Given the description of an element on the screen output the (x, y) to click on. 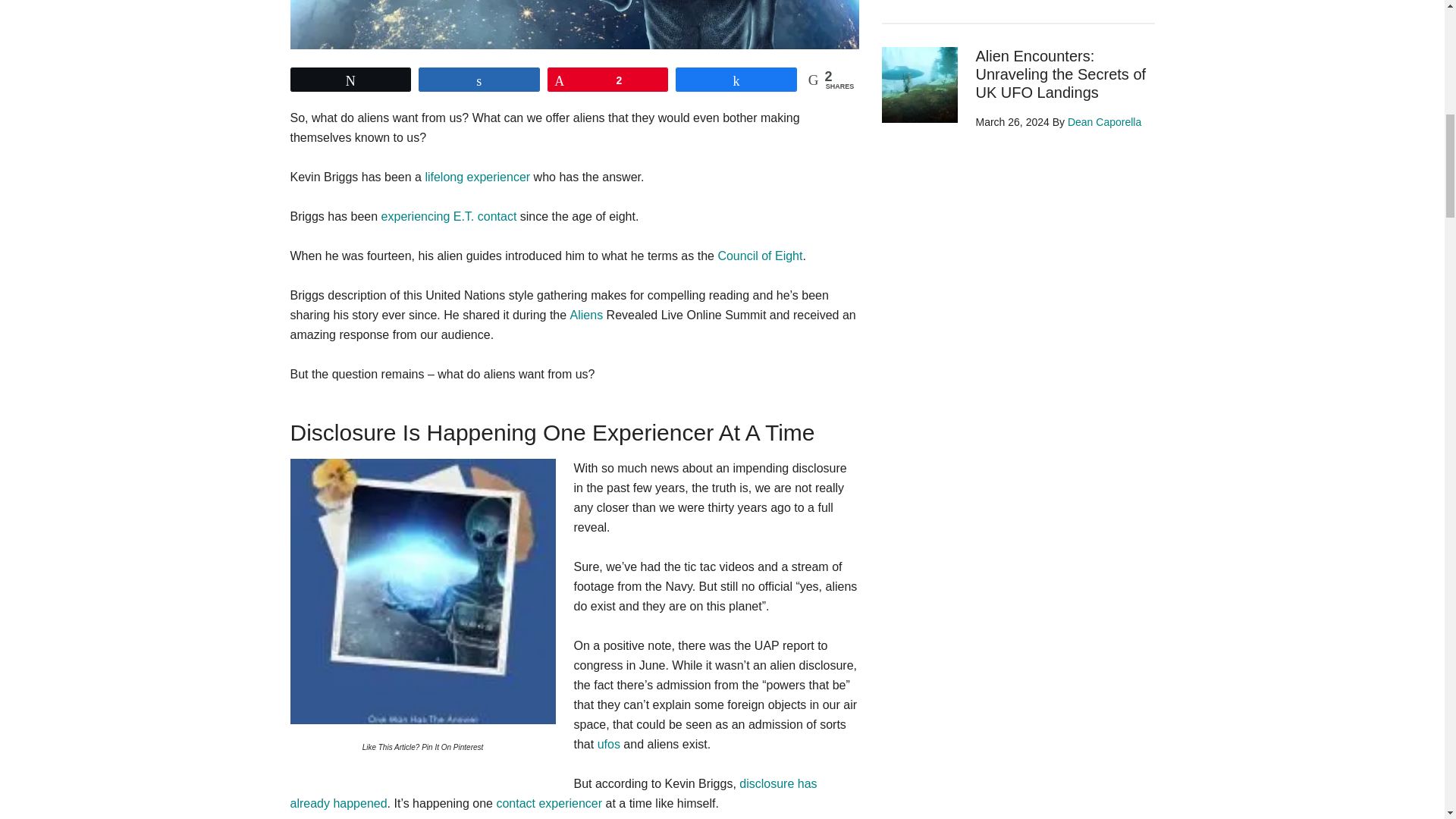
ufos (608, 744)
2 (608, 78)
Council of Eight (759, 255)
disclosure has already happened (552, 793)
What Do Aliens Want From Us (421, 590)
ufos (608, 744)
Aliens (587, 314)
experiencing E.T. contact (448, 215)
contact experiencer (549, 802)
contact experiencer (549, 802)
lifelong experiencer (477, 176)
Aliens (587, 314)
